Given the description of an element on the screen output the (x, y) to click on. 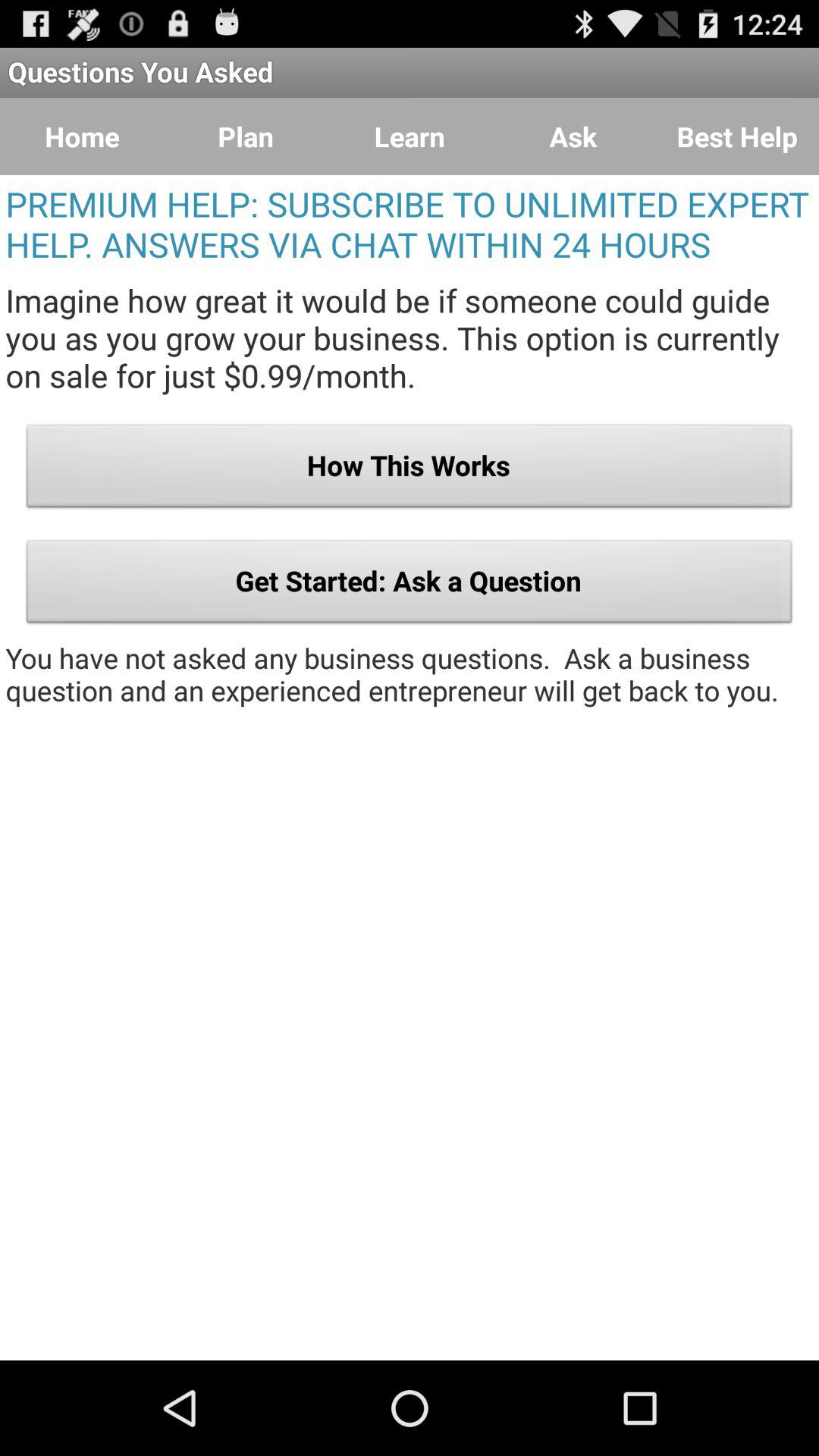
turn on get started ask button (409, 585)
